Given the description of an element on the screen output the (x, y) to click on. 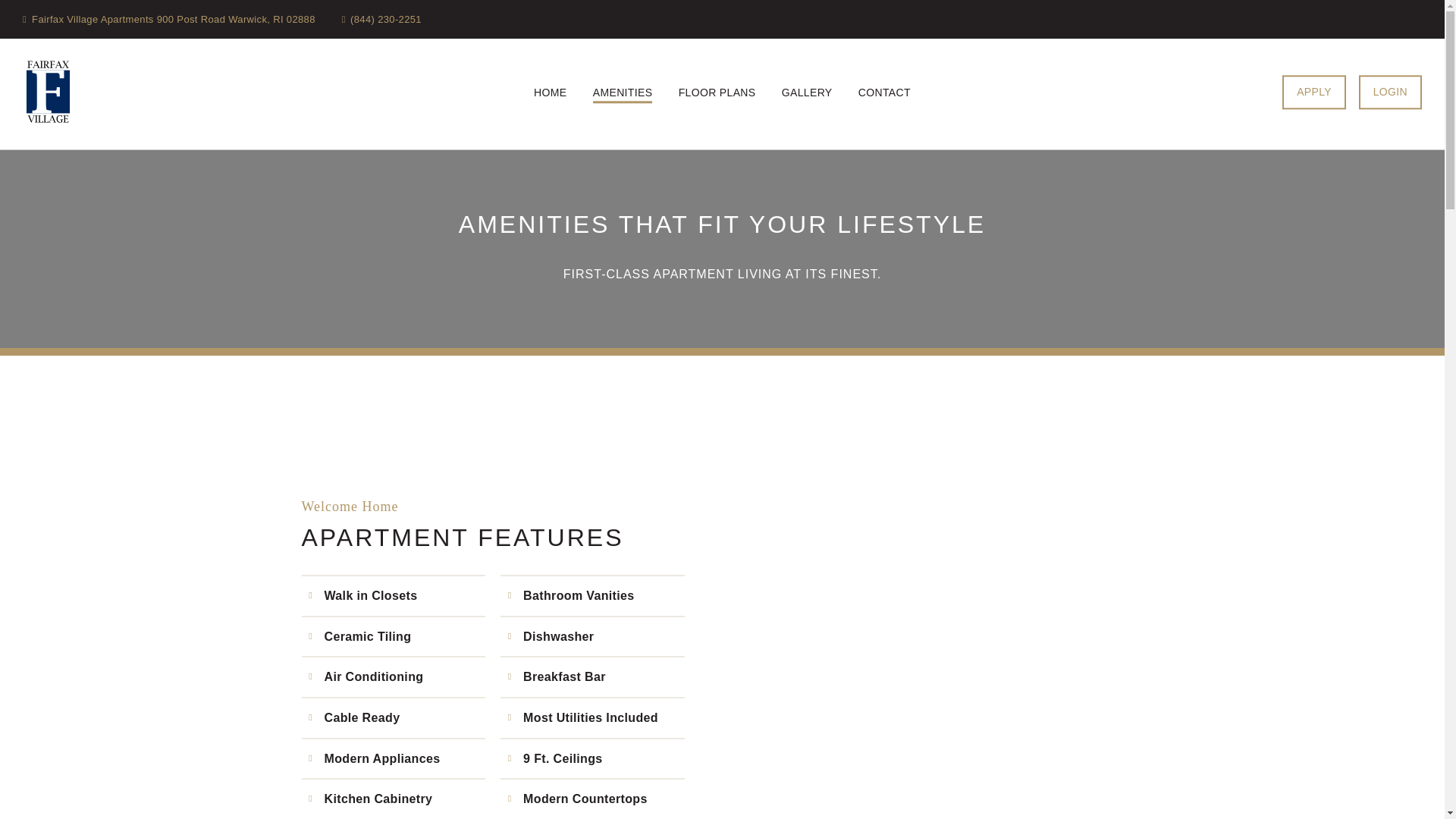
Fairfax Village Apartments 900 Post Road Warwick, RI 02888 (169, 19)
APPLY (1314, 91)
FLOOR PLANS (716, 93)
CONTACT (885, 93)
LOGIN (1390, 91)
HOME (550, 93)
GALLERY (806, 93)
AMENITIES (622, 93)
